Given the description of an element on the screen output the (x, y) to click on. 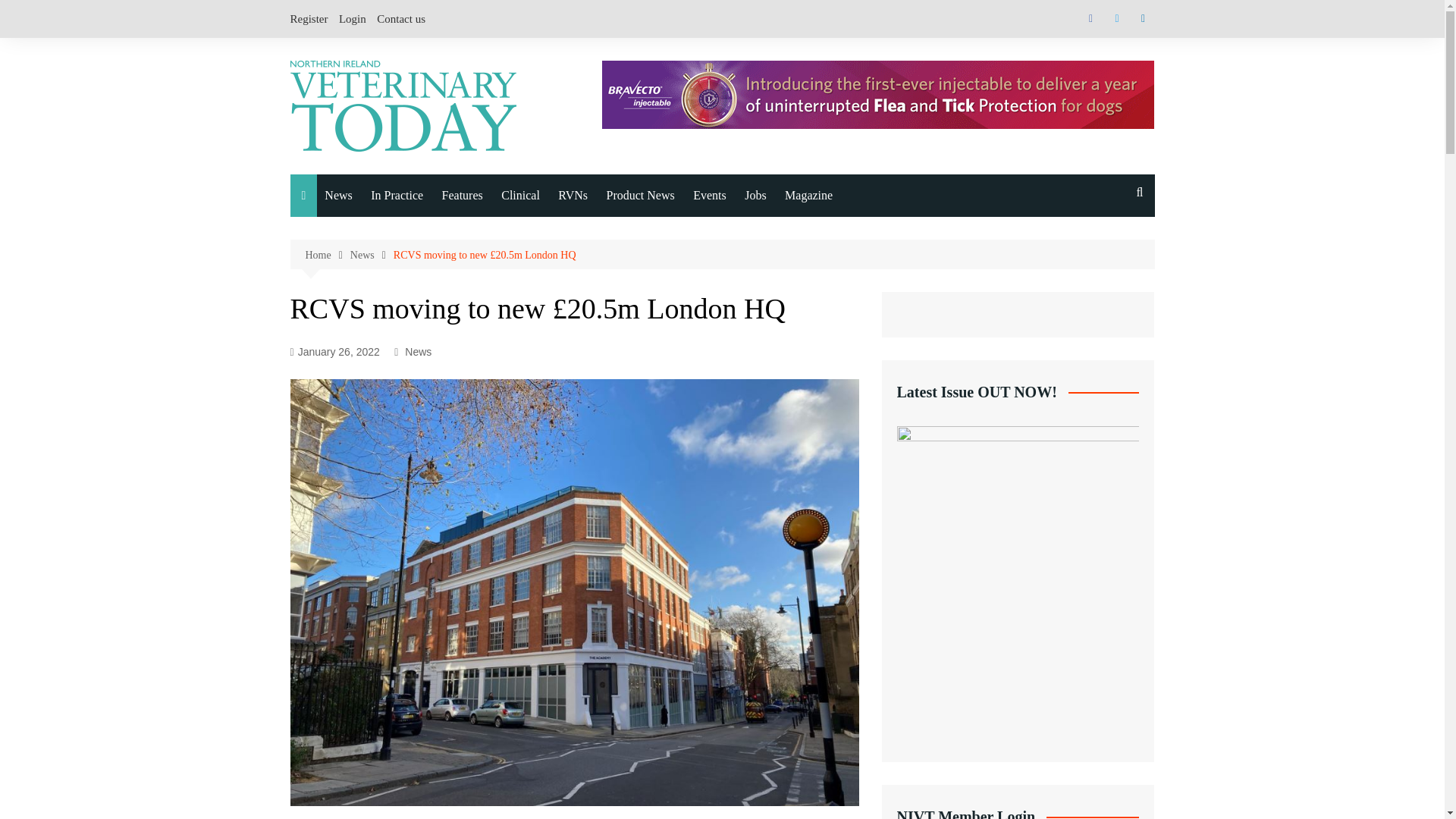
Register (308, 18)
Special Reports (517, 264)
News (371, 255)
Marketing Opportunities (860, 459)
RVNs (572, 195)
Equine (400, 264)
Facebook (1091, 18)
Exotics (400, 296)
Register for the print edition (860, 397)
Magazine (808, 195)
